Given the description of an element on the screen output the (x, y) to click on. 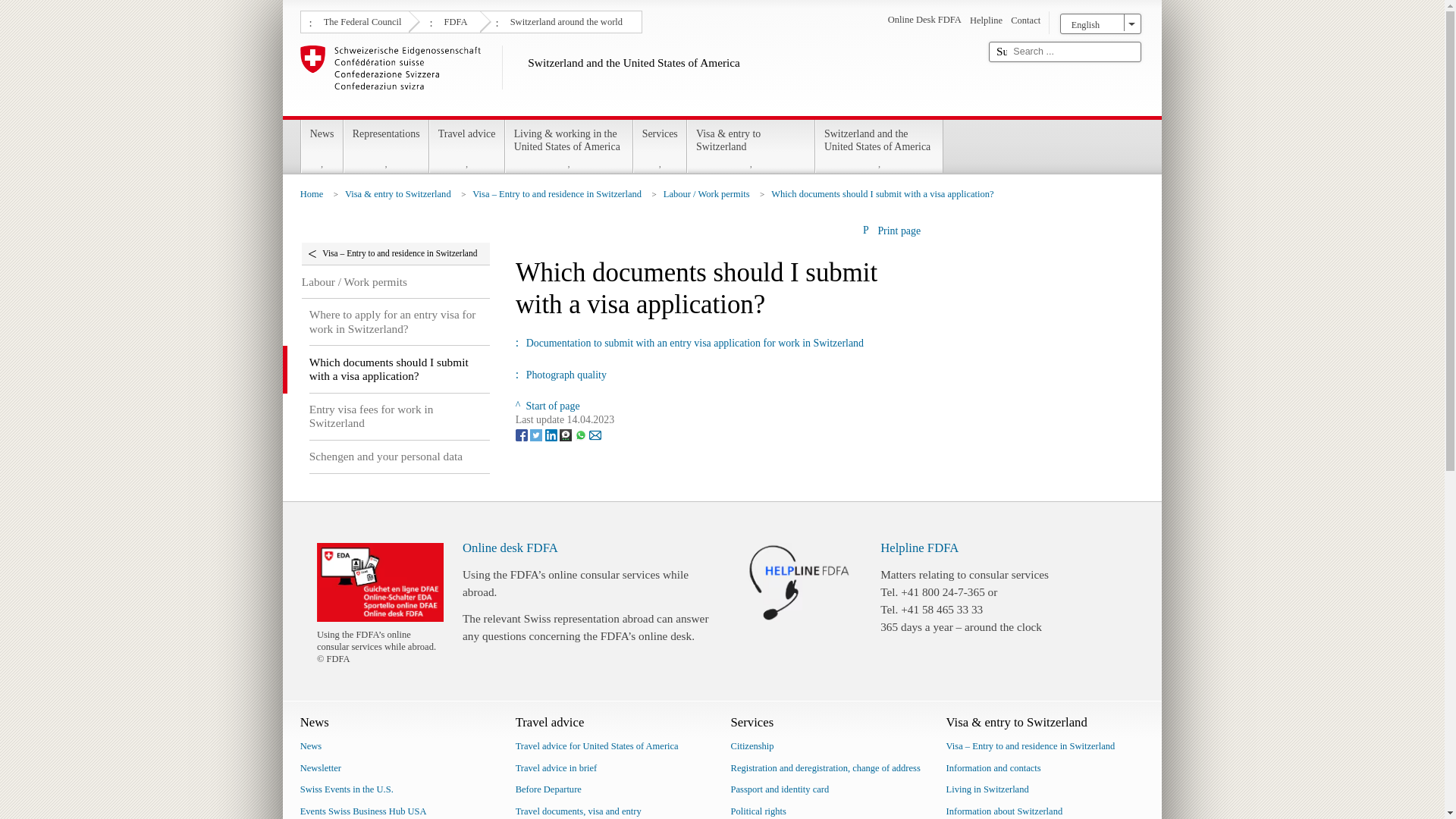
FDFA (454, 20)
Switzerland and the United States of America (637, 76)
Switzerland around the world (564, 20)
The Federal Council (360, 20)
